Given the description of an element on the screen output the (x, y) to click on. 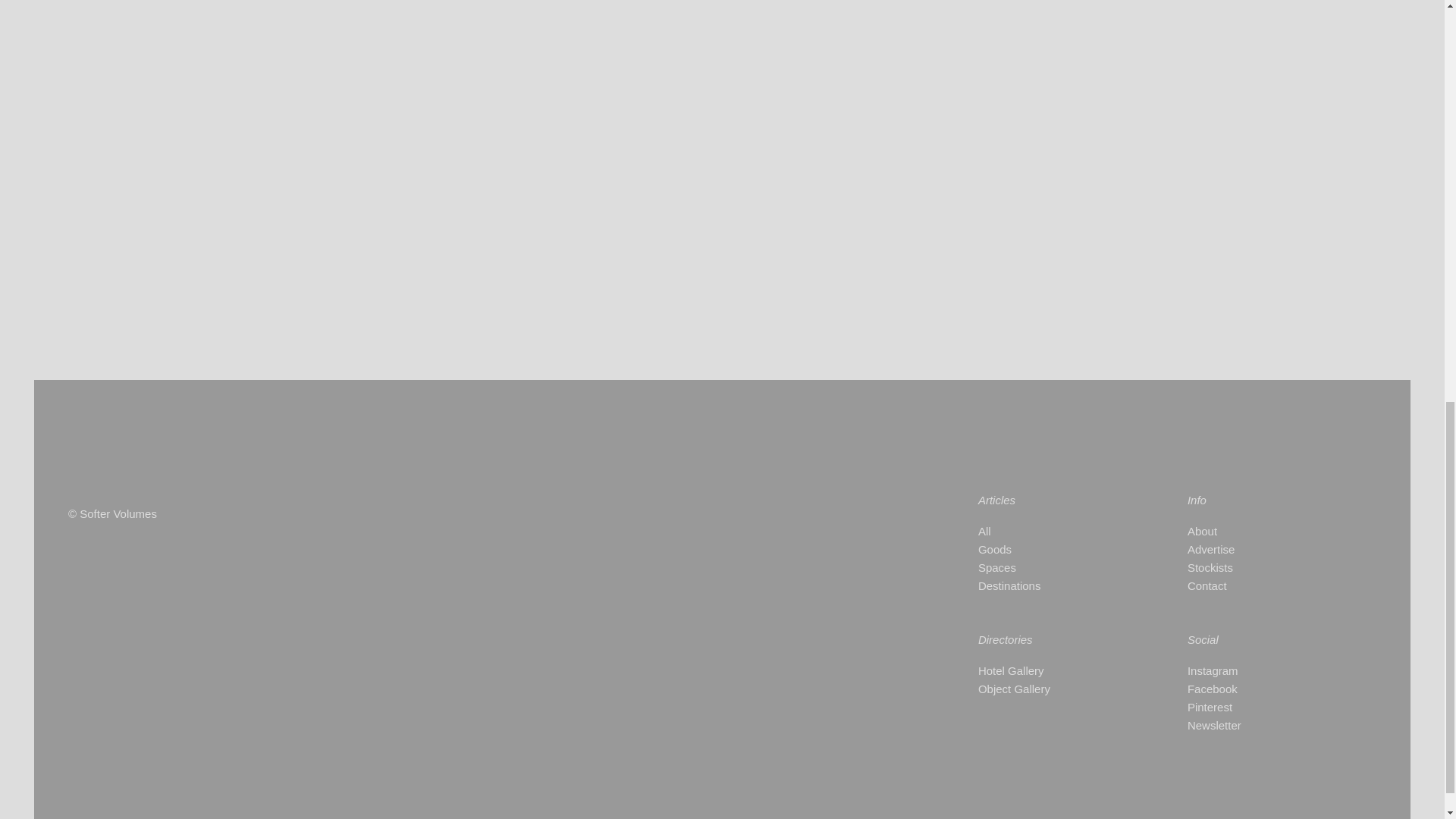
Spaces (1056, 567)
About (1262, 531)
Facebook (1262, 689)
Advertise (1262, 549)
Pinterest (1262, 707)
Destinations (1056, 586)
Goods (1056, 549)
Object Gallery (1056, 689)
Stockists (1262, 567)
Hotel Gallery (1056, 670)
